Given the description of an element on the screen output the (x, y) to click on. 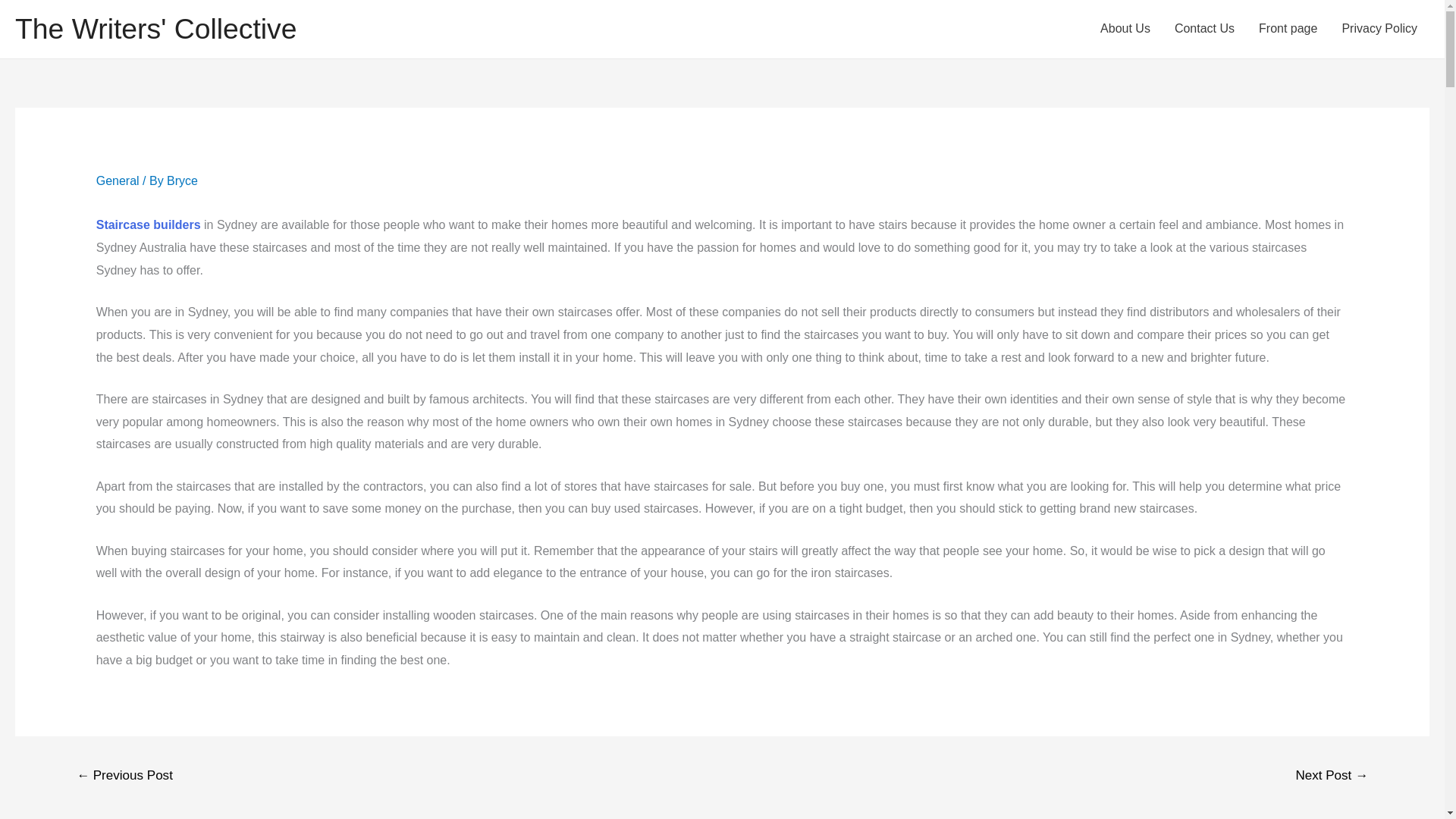
The Writers' Collective (155, 29)
General (117, 180)
Bryce (182, 180)
View all posts by Bryce (182, 180)
Front page (1287, 29)
Privacy Policy (1379, 29)
Contact Us (1203, 29)
About Us (1124, 29)
Staircase builders (148, 224)
